Given the description of an element on the screen output the (x, y) to click on. 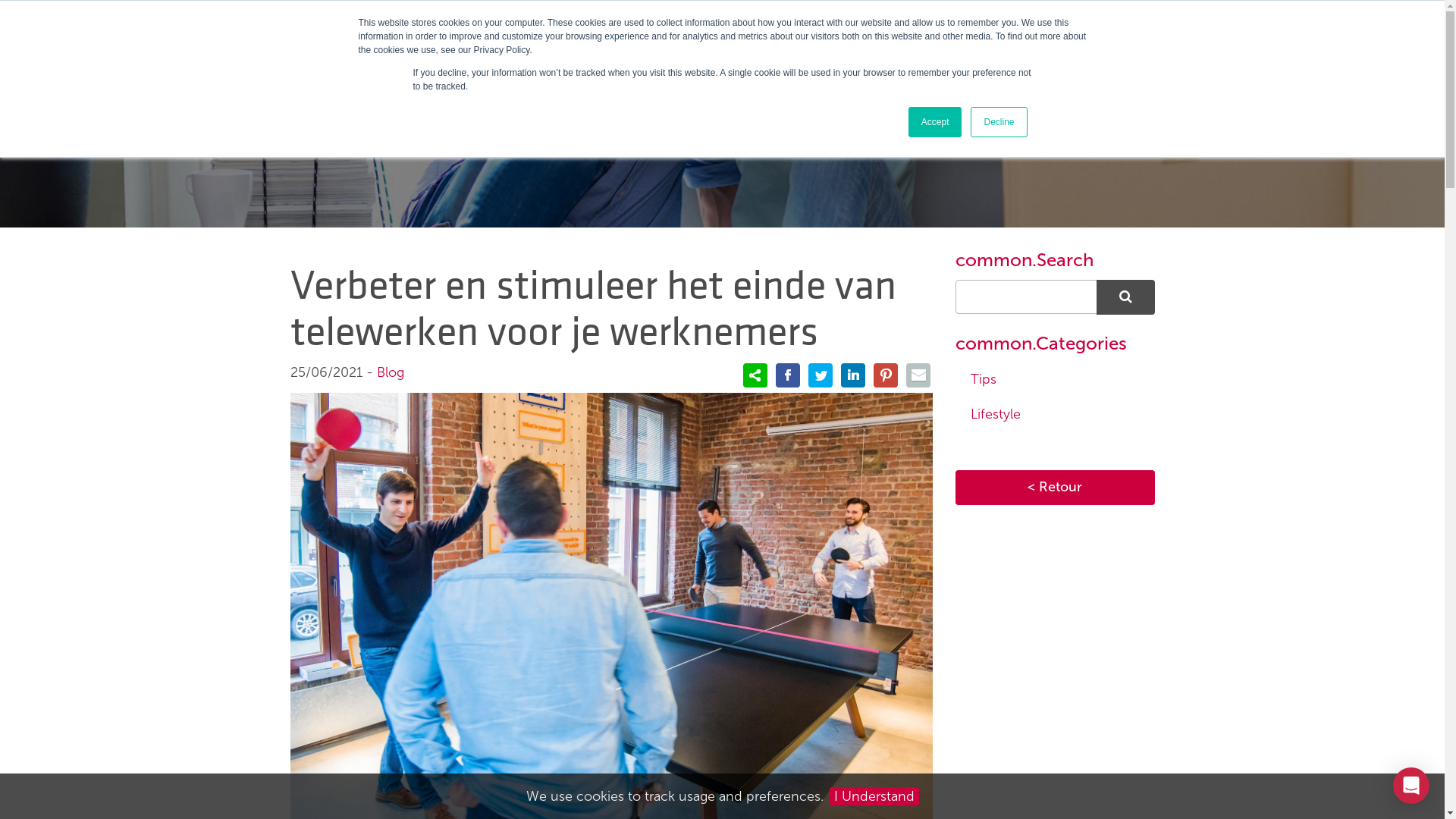
Accept Element type: text (935, 121)
Blog Element type: text (389, 372)
Lifestyle Element type: text (1054, 414)
FR Element type: text (1066, 30)
< Retour Element type: text (1054, 487)
Prix Element type: text (622, 30)
Contact Element type: text (872, 30)
Services Element type: text (556, 30)
+32 2 318 59 16 Element type: text (974, 29)
login Element type: text (1135, 28)
Decline Element type: text (998, 121)
I Understand Element type: text (874, 796)
Boxify pour les entreprises Element type: text (740, 30)
common.Blog Element type: text (722, 113)
Tips Element type: text (1054, 379)
